Given the description of an element on the screen output the (x, y) to click on. 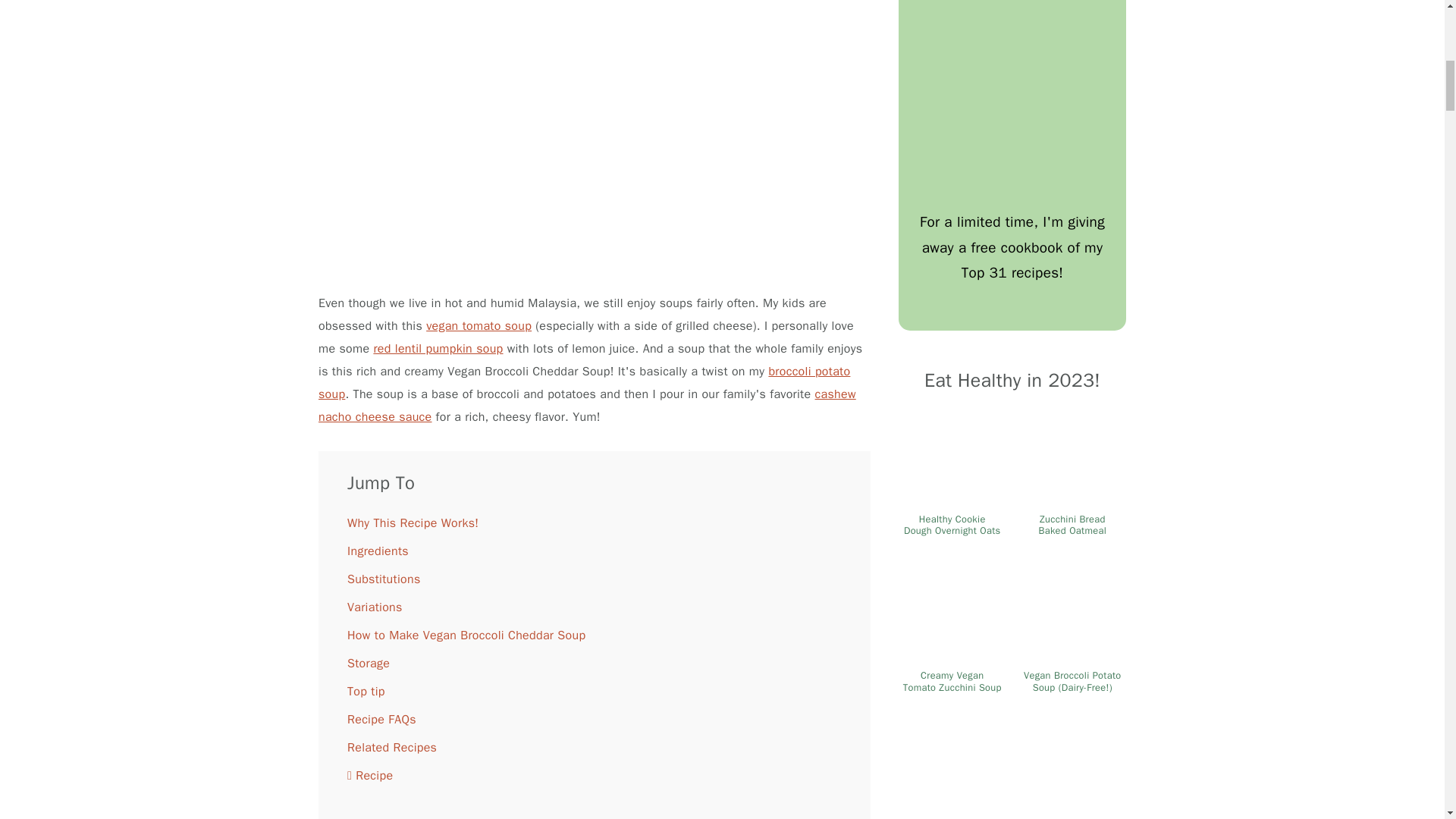
vegan tomato soup (478, 325)
